Given the description of an element on the screen output the (x, y) to click on. 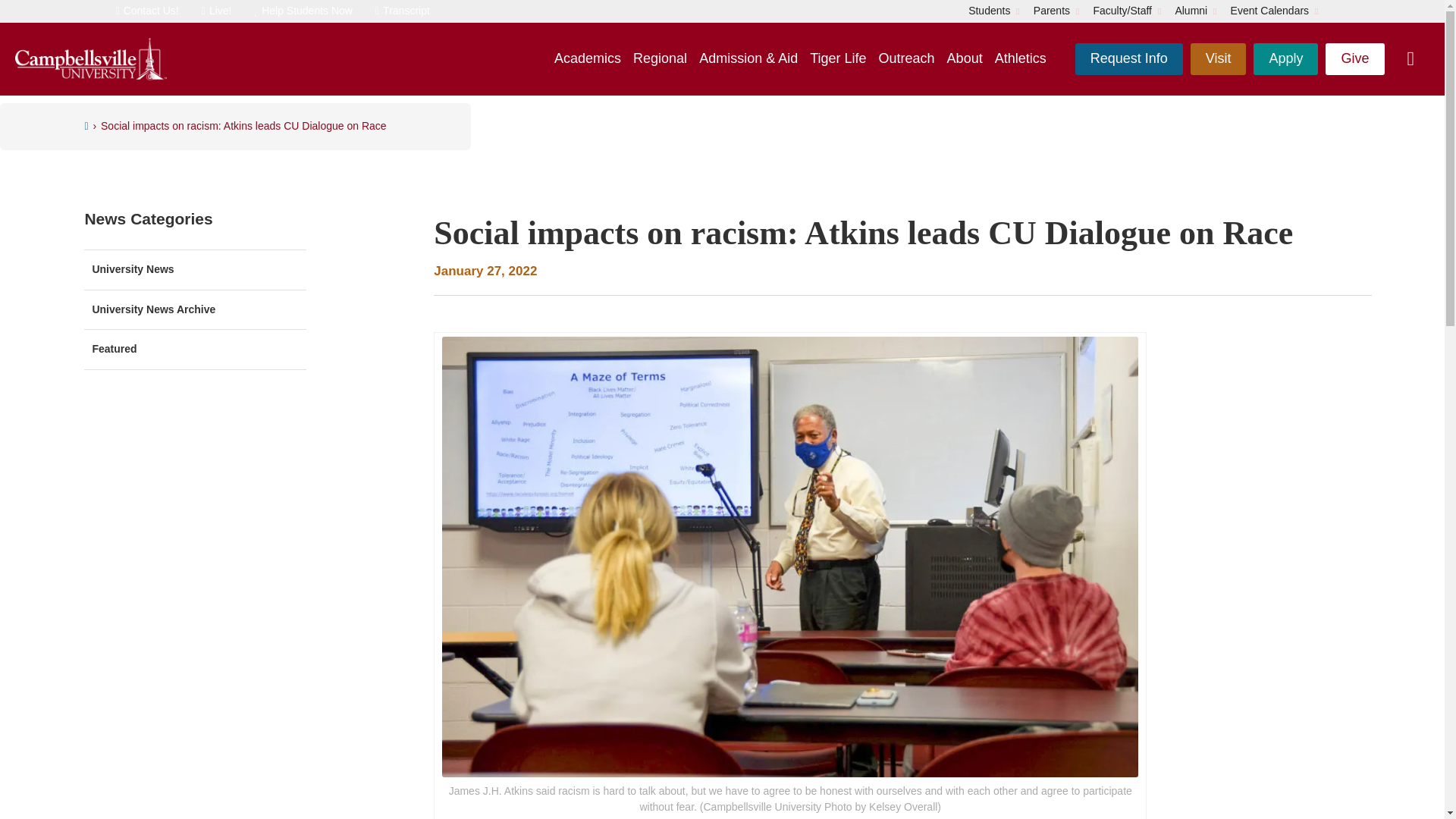
Parents (1051, 11)
Campbellsville University Logo (90, 59)
Contact Us! (146, 11)
Students (989, 11)
Transcript (402, 11)
Help Students Now (302, 11)
Live! (216, 11)
